Given the description of an element on the screen output the (x, y) to click on. 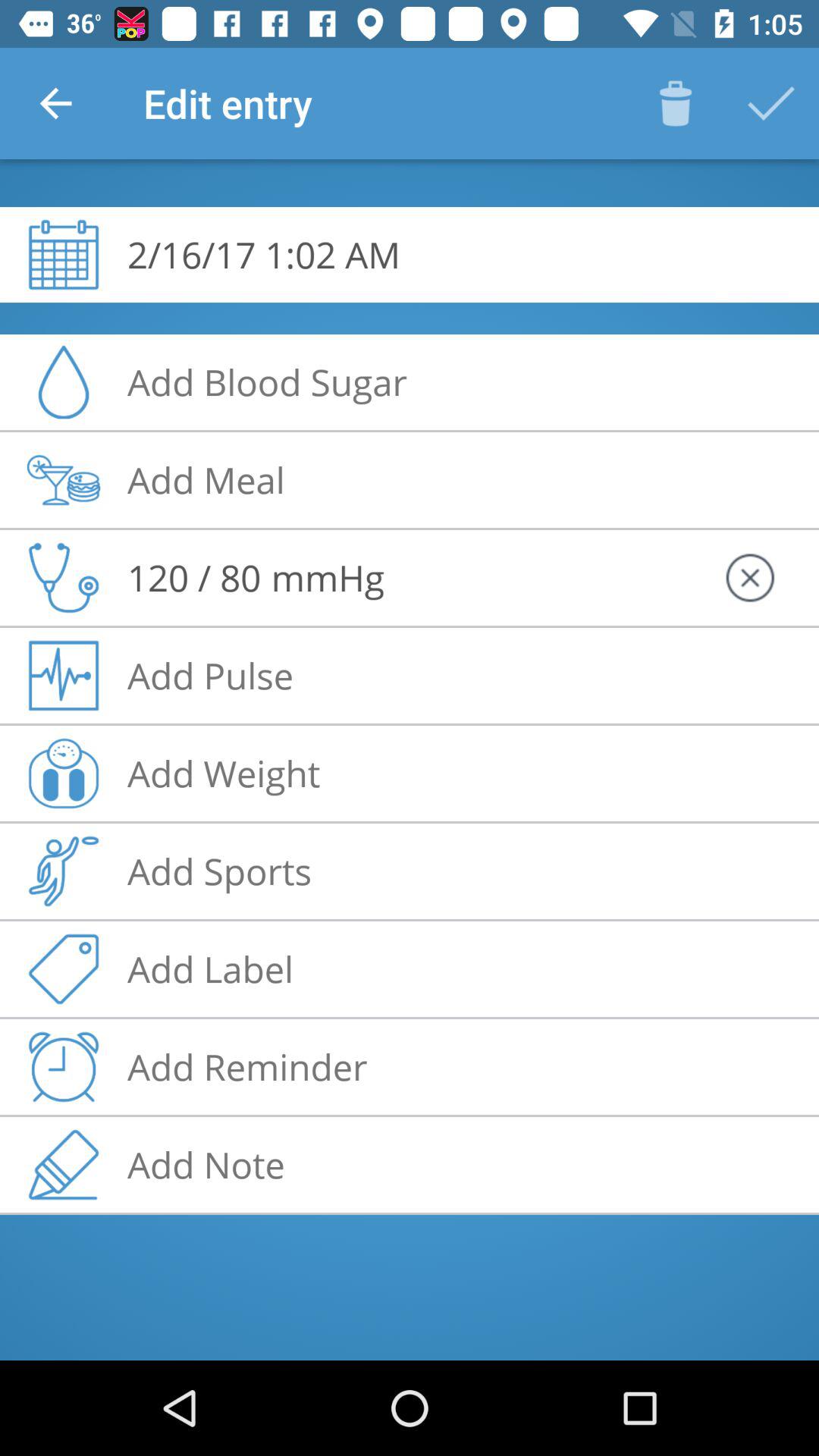
click on the icon beside add label (63, 968)
click on correct button to the top right corner (771, 103)
click on 120  80 (194, 577)
click the icon left to add note (63, 1164)
click on the calender icon (63, 254)
select the stethoscope icon (63, 577)
select the text below add blood sugar (206, 479)
click on the add remainder icon (63, 1067)
